Given the description of an element on the screen output the (x, y) to click on. 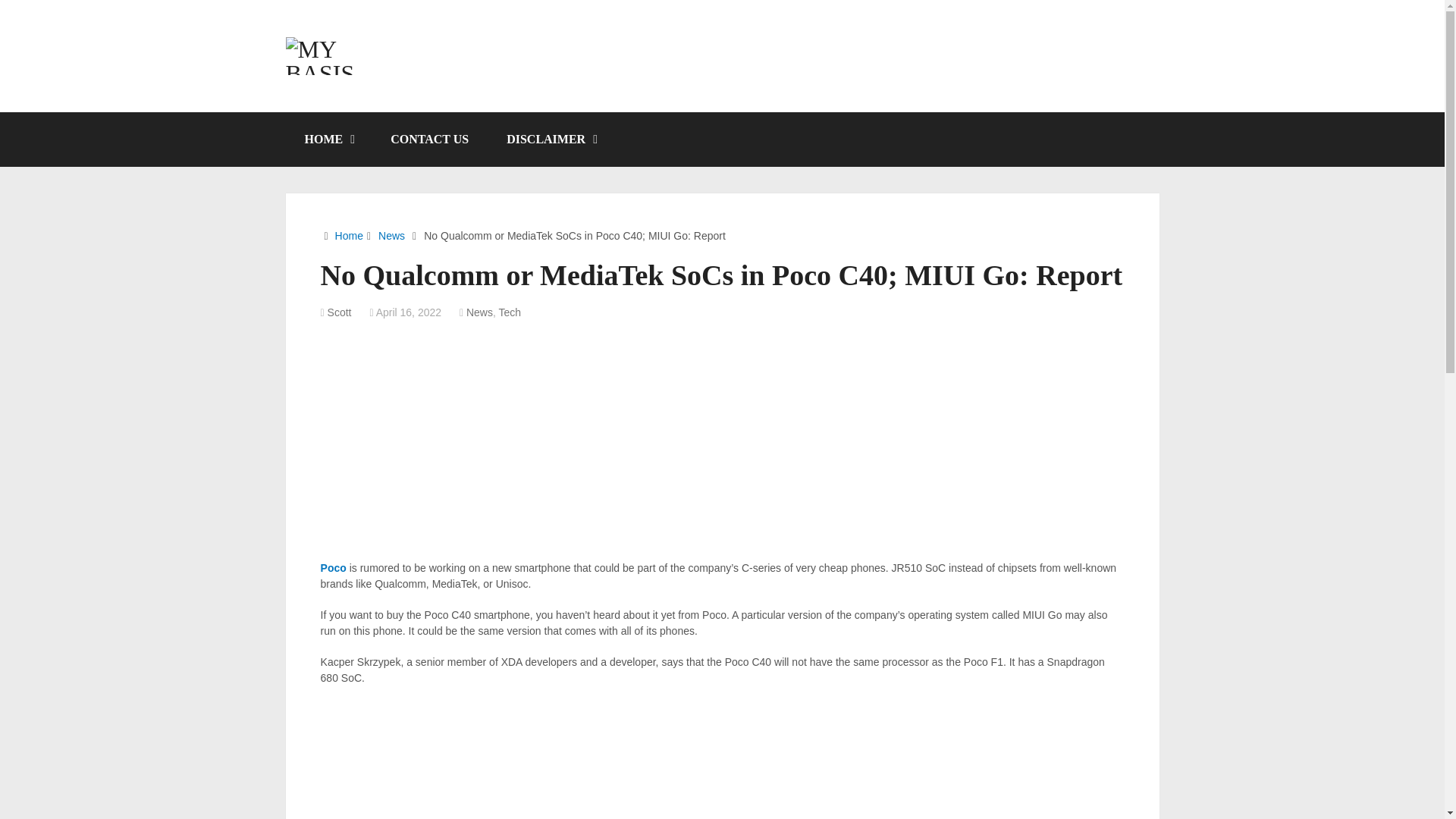
News (391, 235)
Posts by Scott (339, 312)
Tech (510, 312)
Poco (334, 567)
DISCLAIMER (550, 139)
Scott (339, 312)
Home (348, 235)
News (479, 312)
View all posts in Tech (510, 312)
Advertisement (722, 760)
View all posts in News (479, 312)
CONTACT US (429, 139)
HOME (328, 139)
